Given the description of an element on the screen output the (x, y) to click on. 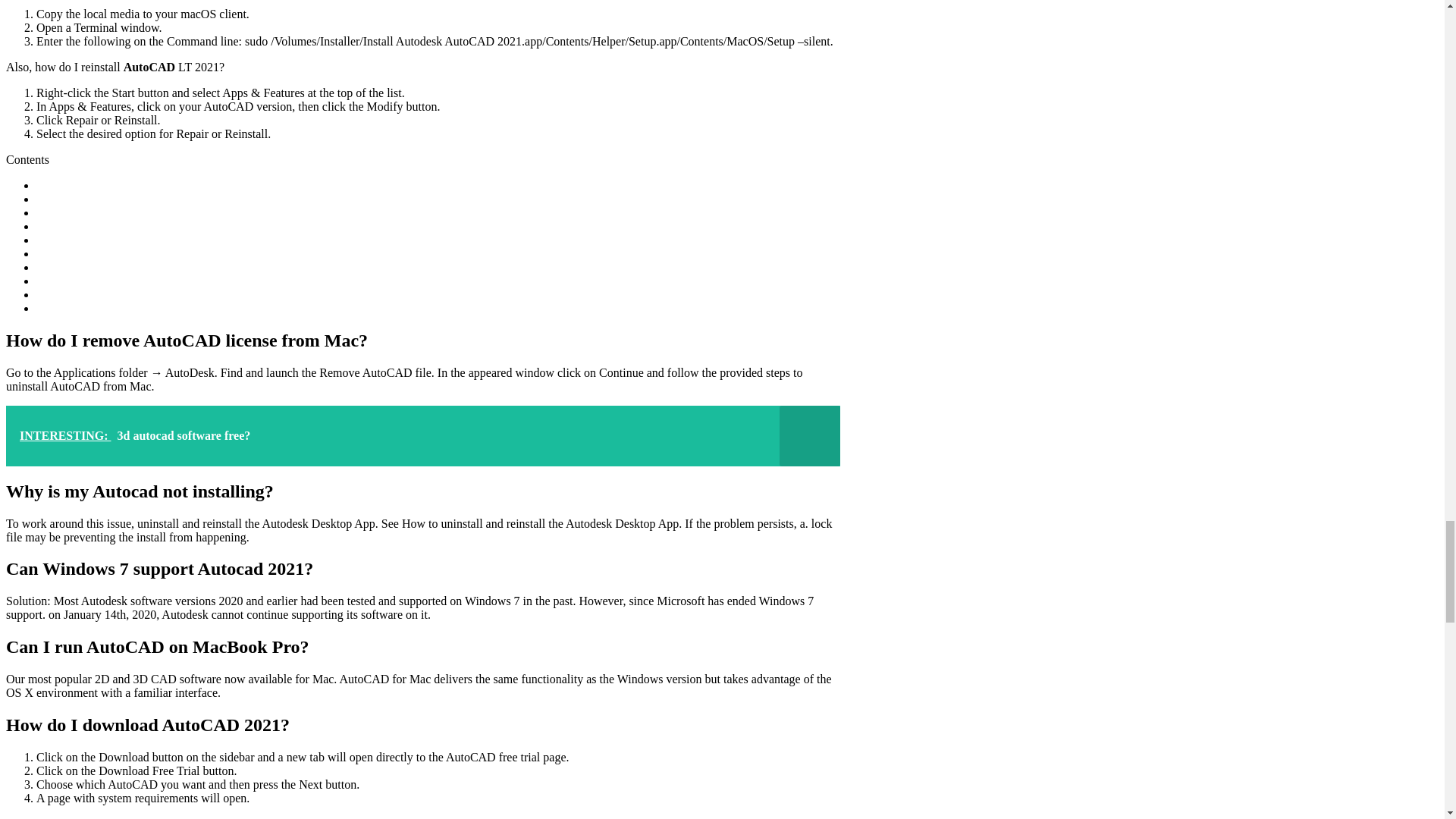
INTERESTING:   3d autocad software free? (422, 435)
